Given the description of an element on the screen output the (x, y) to click on. 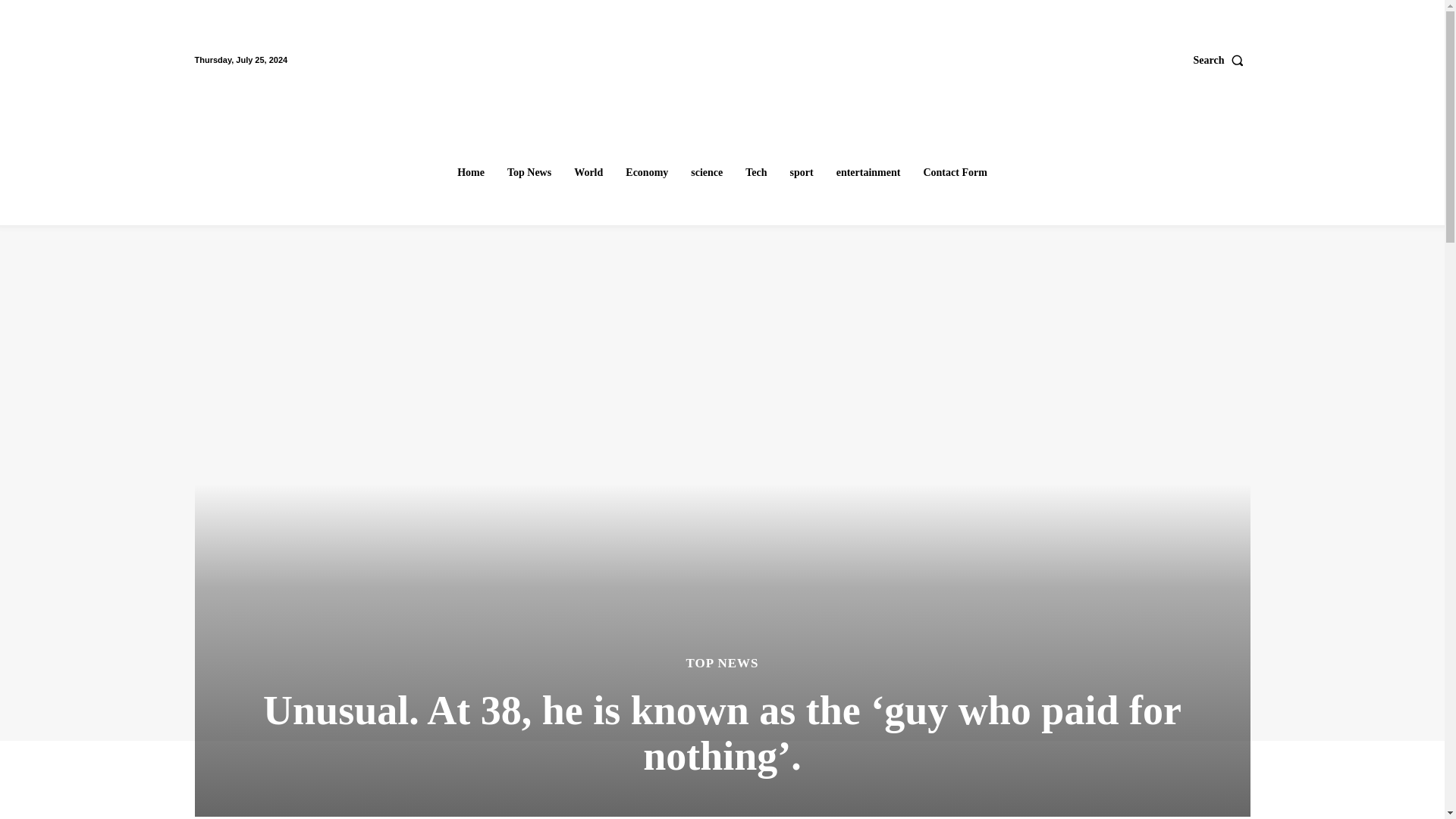
World (588, 173)
Contact Form (954, 173)
science (706, 173)
Search (1221, 60)
Home (470, 173)
sport (802, 173)
entertainment (868, 173)
Economy (646, 173)
Tech (756, 173)
Top News (529, 173)
